Given the description of an element on the screen output the (x, y) to click on. 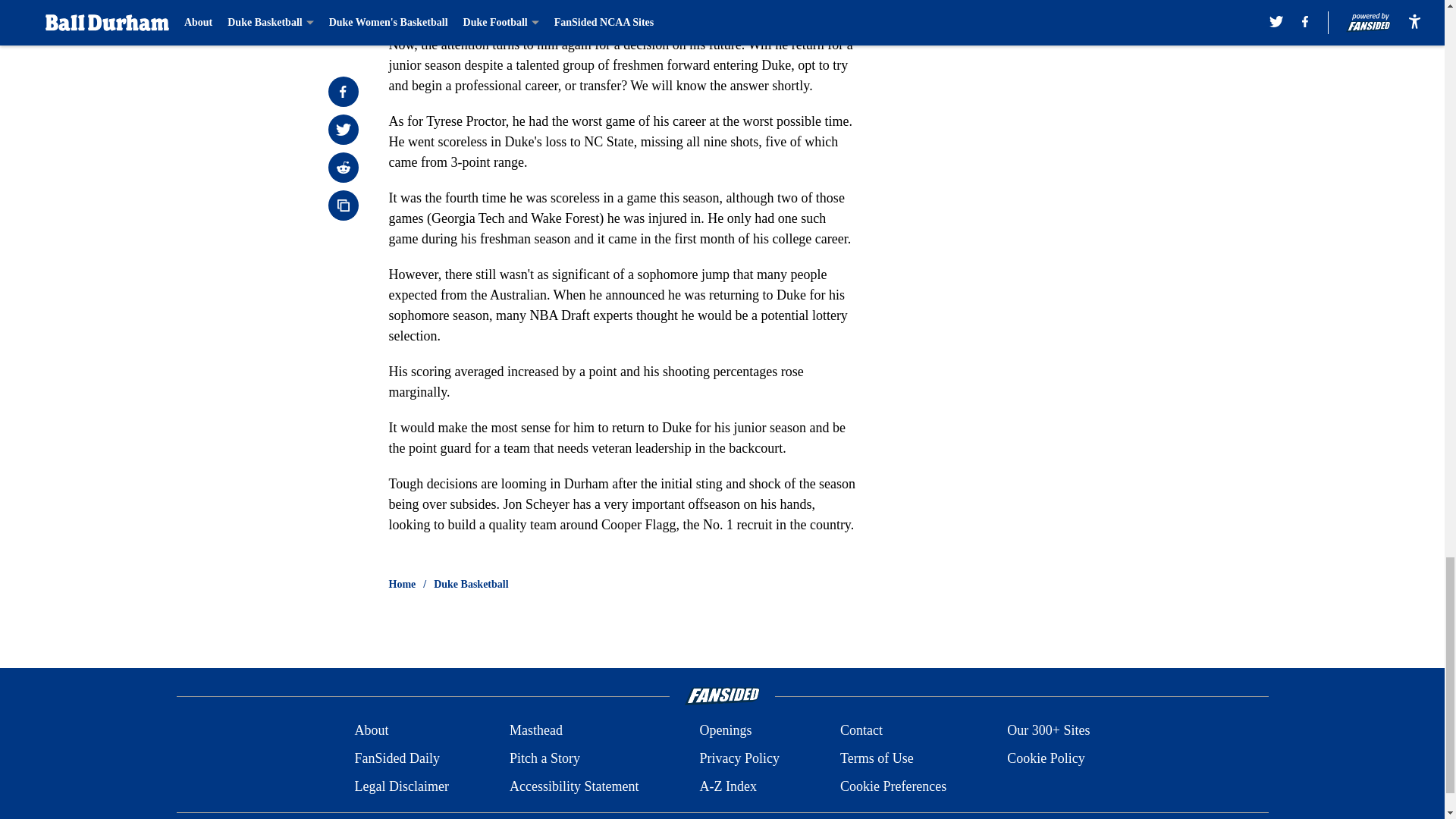
Openings (724, 730)
FanSided Daily (396, 758)
Terms of Use (877, 758)
A-Z Index (726, 786)
About (370, 730)
Accessibility Statement (574, 786)
Cookie Preferences (893, 786)
Masthead (535, 730)
Legal Disclaimer (400, 786)
Duke Basketball (470, 584)
